Given the description of an element on the screen output the (x, y) to click on. 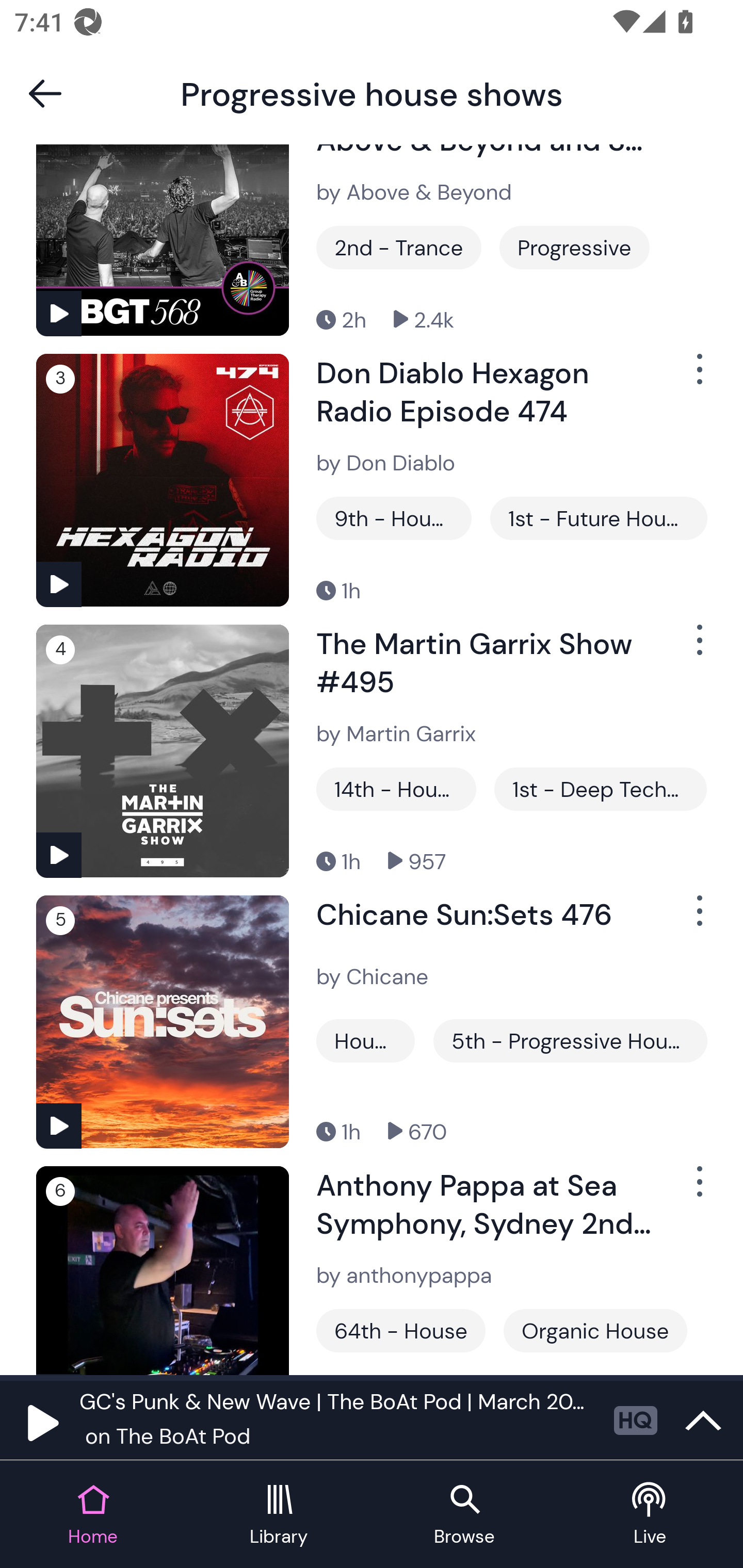
2nd - Trance (398, 247)
Progressive (574, 247)
Show Options Menu Button (697, 377)
9th - House (393, 518)
1st - Future House (598, 518)
Show Options Menu Button (697, 647)
14th - House (396, 788)
1st - Deep Techno (600, 788)
Show Options Menu Button (697, 918)
House (365, 1041)
5th - Progressive House (569, 1041)
Show Options Menu Button (697, 1189)
64th - House (400, 1330)
Organic House (595, 1330)
Home tab Home (92, 1515)
Library tab Library (278, 1515)
Browse tab Browse (464, 1515)
Live tab Live (650, 1515)
